Given the description of an element on the screen output the (x, y) to click on. 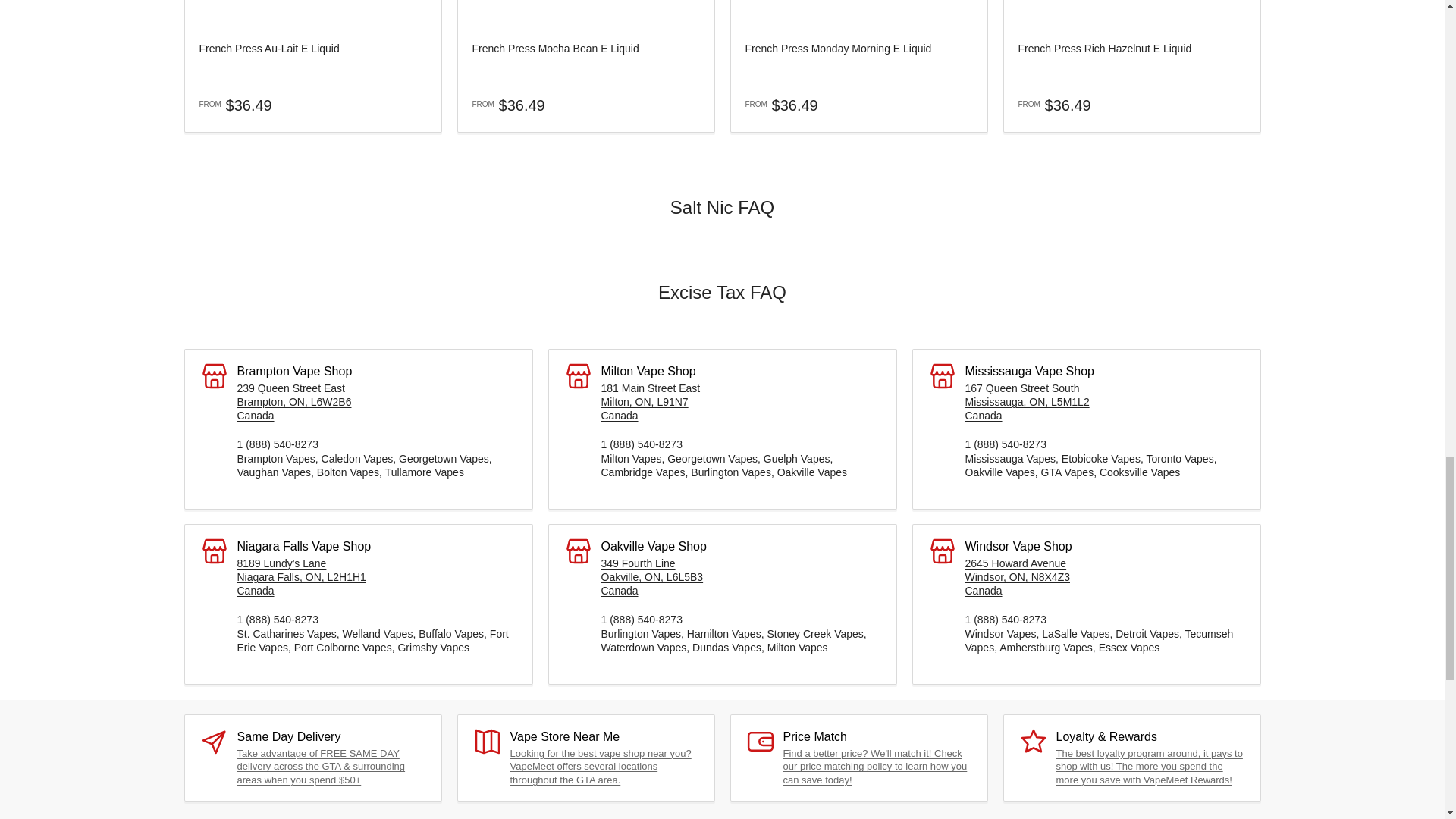
Vape Store Near Me (599, 766)
VapeMeet Milton, 181 Main St E unit 5, Milton, ON L9T 1N7 (649, 401)
Price Match Policy (874, 766)
VapeMeet Oakville - The best vape store in Oakville (651, 577)
VapeMeet Mississauga - The Best Vape Store in Mississauga (1026, 401)
Windsor Vape Shop E-Cigarette E-Liquid Stores (1016, 577)
Brampton Vape Store E-cigarette E-Liquid Stores (292, 401)
Shipping Policy (319, 766)
